Given the description of an element on the screen output the (x, y) to click on. 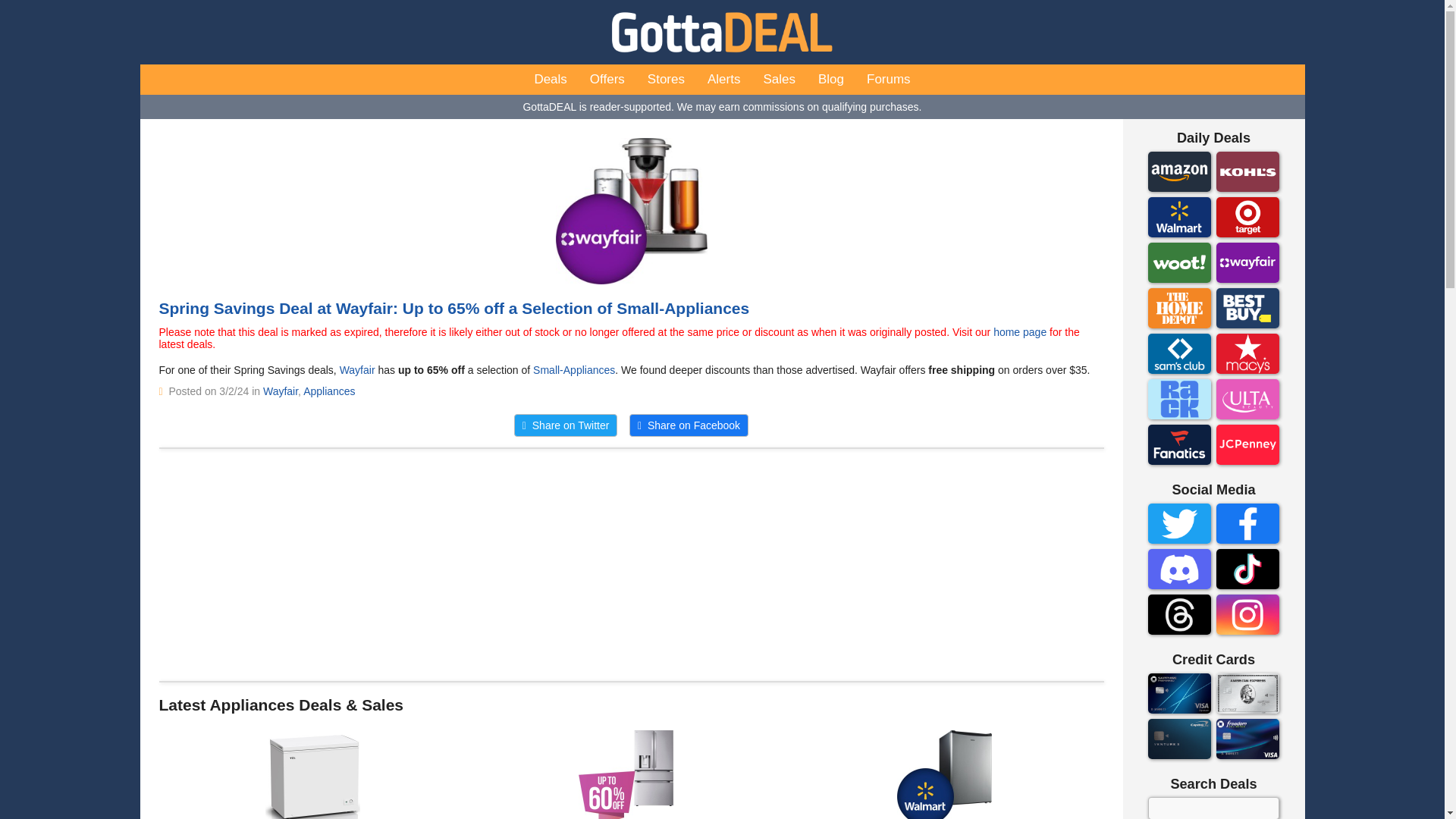
Blog (831, 79)
  Share on Twitter (565, 425)
Appliances (328, 390)
GottaDEAL - Why pay retail? (722, 32)
home page (1019, 331)
  Share on Facebook (688, 425)
Wayfair (280, 390)
Deals (550, 79)
Small-Appliances (573, 369)
Stores (665, 79)
Alerts (723, 79)
Forums (888, 79)
Sales (778, 79)
